Given the description of an element on the screen output the (x, y) to click on. 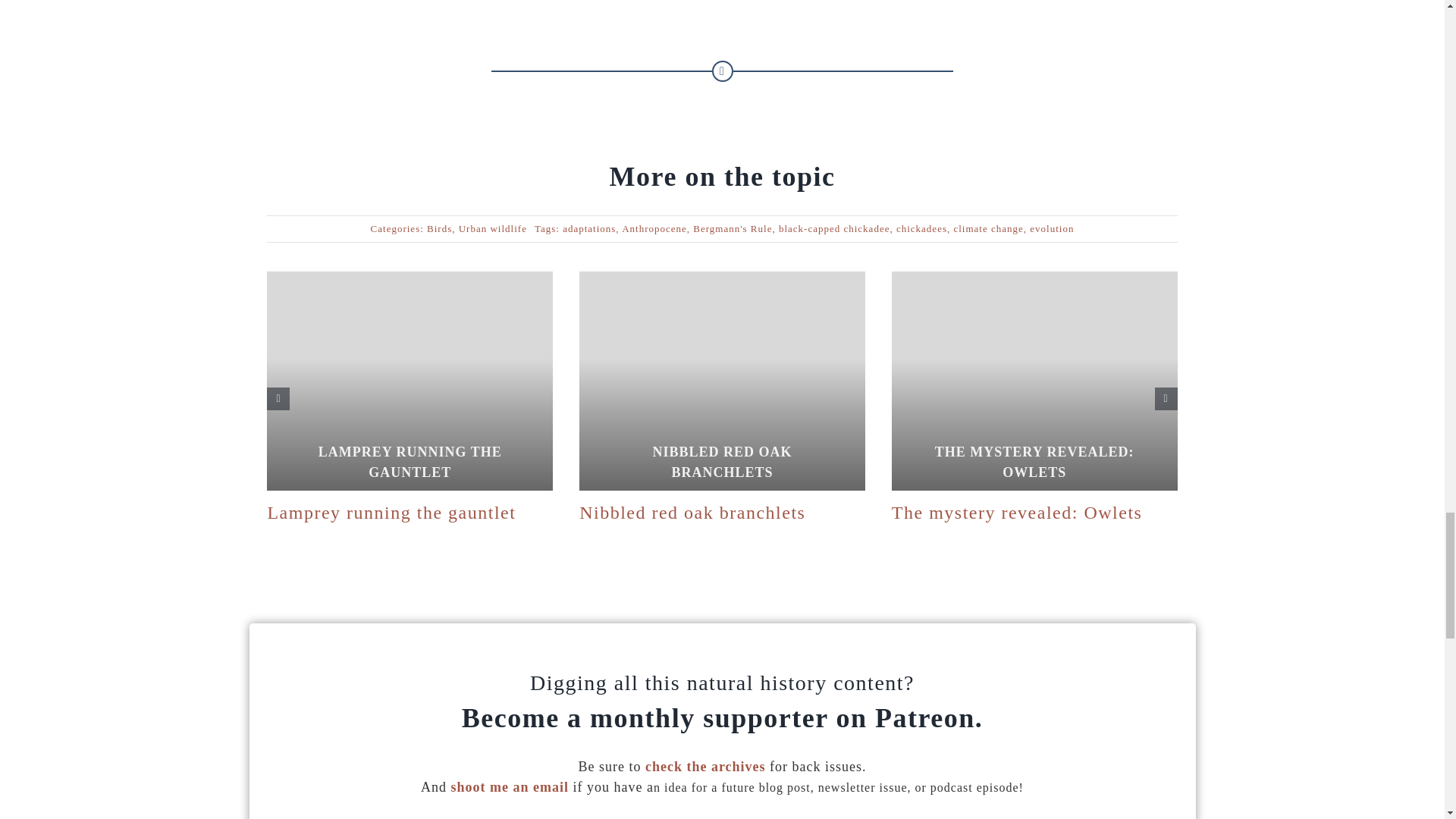
Lamprey running the gauntlet (390, 512)
Nibbled red oak branchlets (692, 512)
The mystery revealed: Owlets (1016, 512)
